Given the description of an element on the screen output the (x, y) to click on. 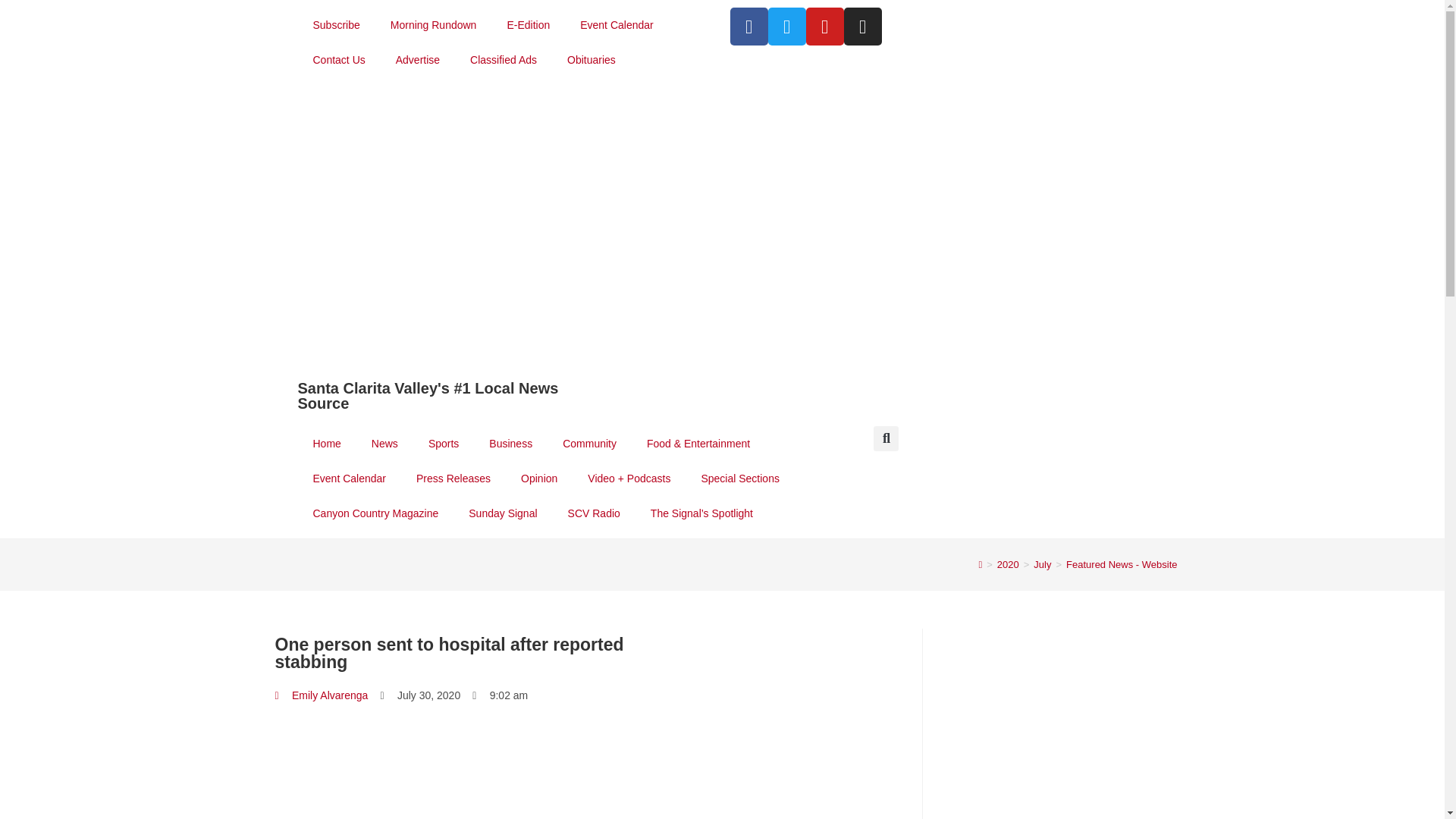
Advertise (417, 59)
Sports (443, 443)
Subscribe (335, 24)
Obituaries (590, 59)
News (384, 443)
Event Calendar (616, 24)
Classified Ads (502, 59)
Home (326, 443)
Contact Us (338, 59)
E-Edition (528, 24)
Morning Rundown (433, 24)
